Given the description of an element on the screen output the (x, y) to click on. 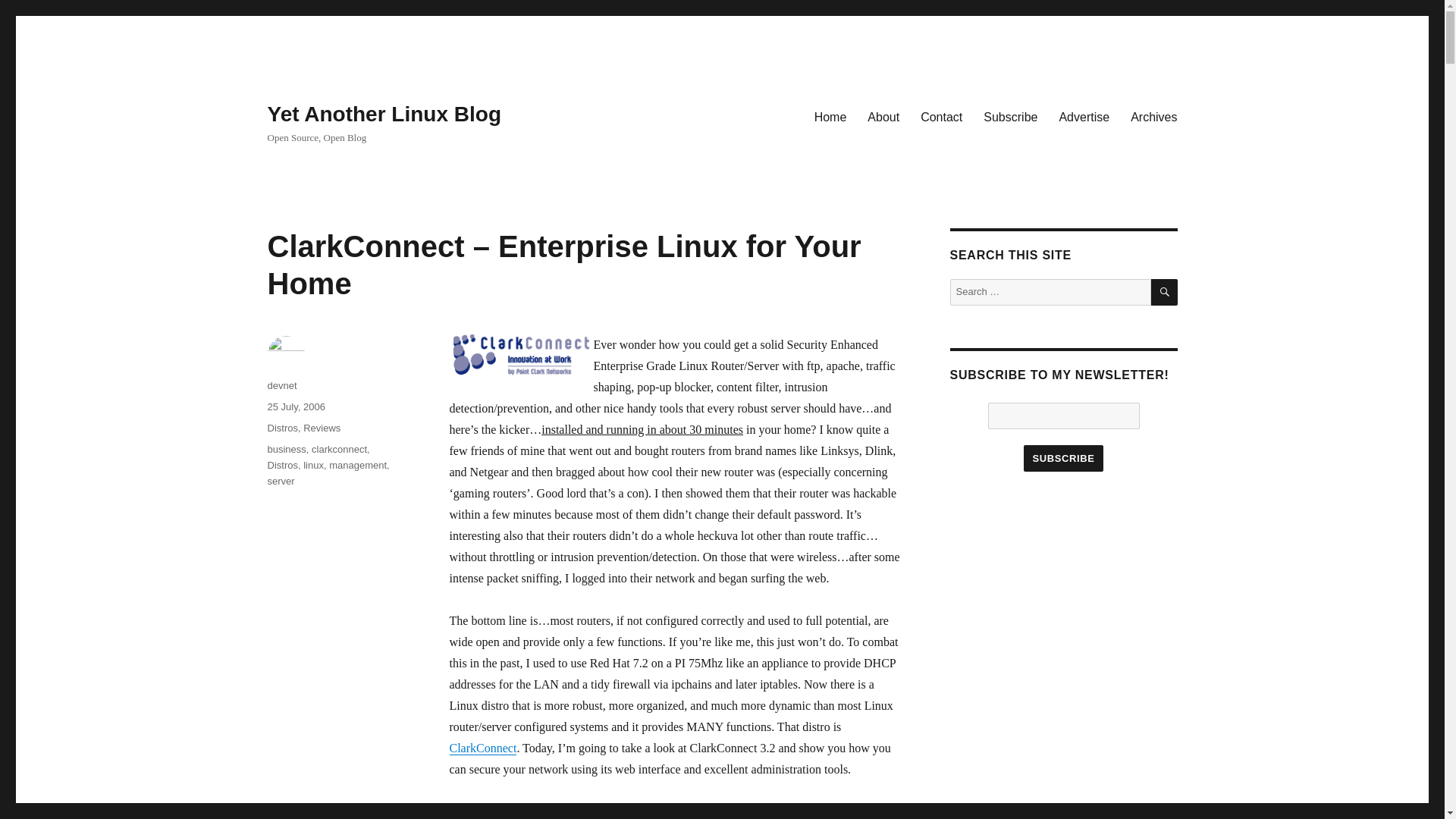
Subscribe (1062, 458)
ClarkConnect, from Point Clark Networks (482, 748)
Subscribe (1010, 116)
Advertise (1083, 116)
Home (830, 116)
Yet Another Linux Blog (383, 114)
Contact (941, 116)
ClarkConnect (482, 748)
Archives (1153, 116)
About (883, 116)
